Given the description of an element on the screen output the (x, y) to click on. 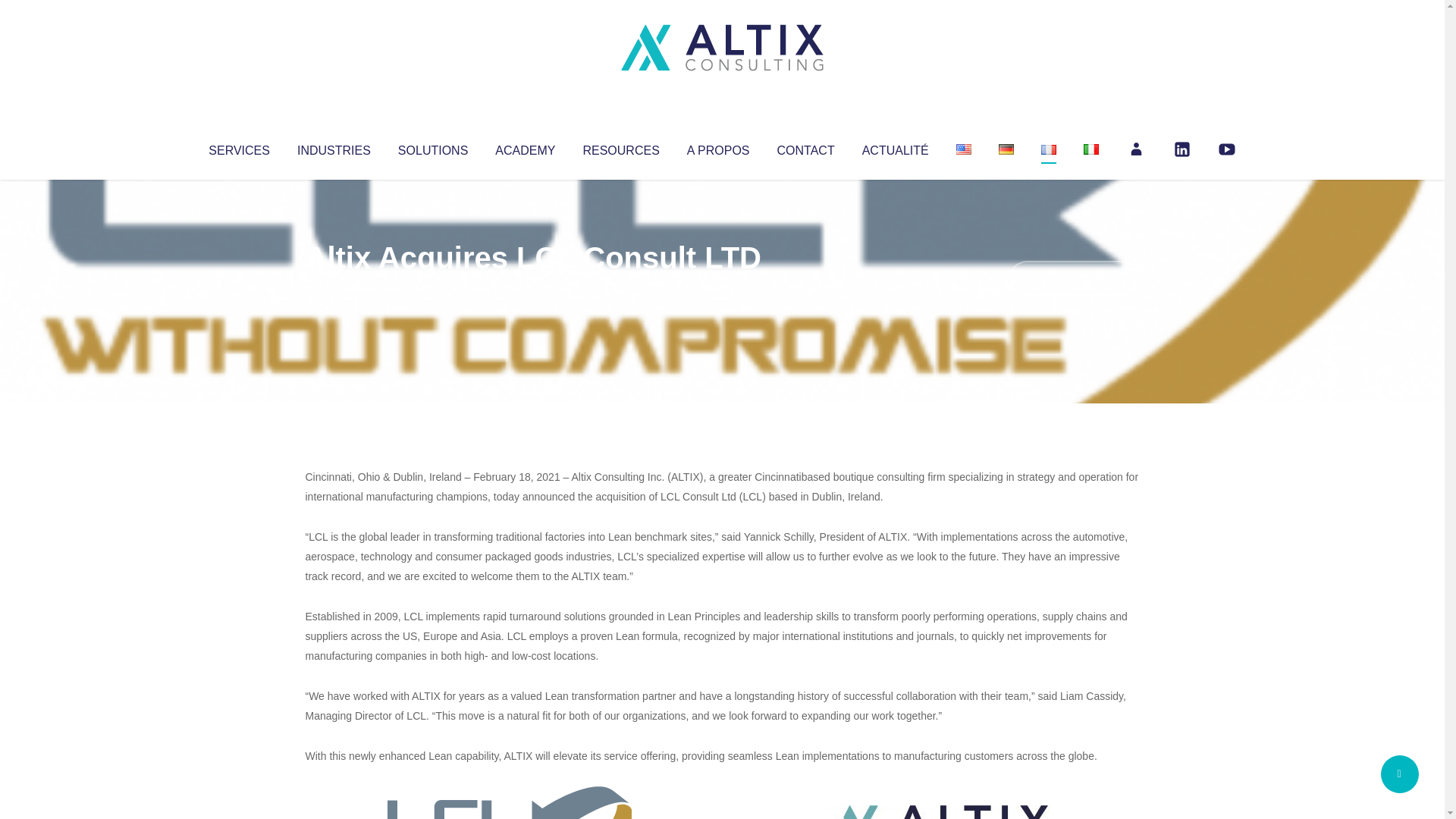
A PROPOS (718, 146)
Uncategorized (530, 287)
RESOURCES (620, 146)
INDUSTRIES (334, 146)
ACADEMY (524, 146)
SOLUTIONS (432, 146)
SERVICES (238, 146)
Altix (333, 287)
Articles par Altix (333, 287)
No Comments (1073, 278)
